Given the description of an element on the screen output the (x, y) to click on. 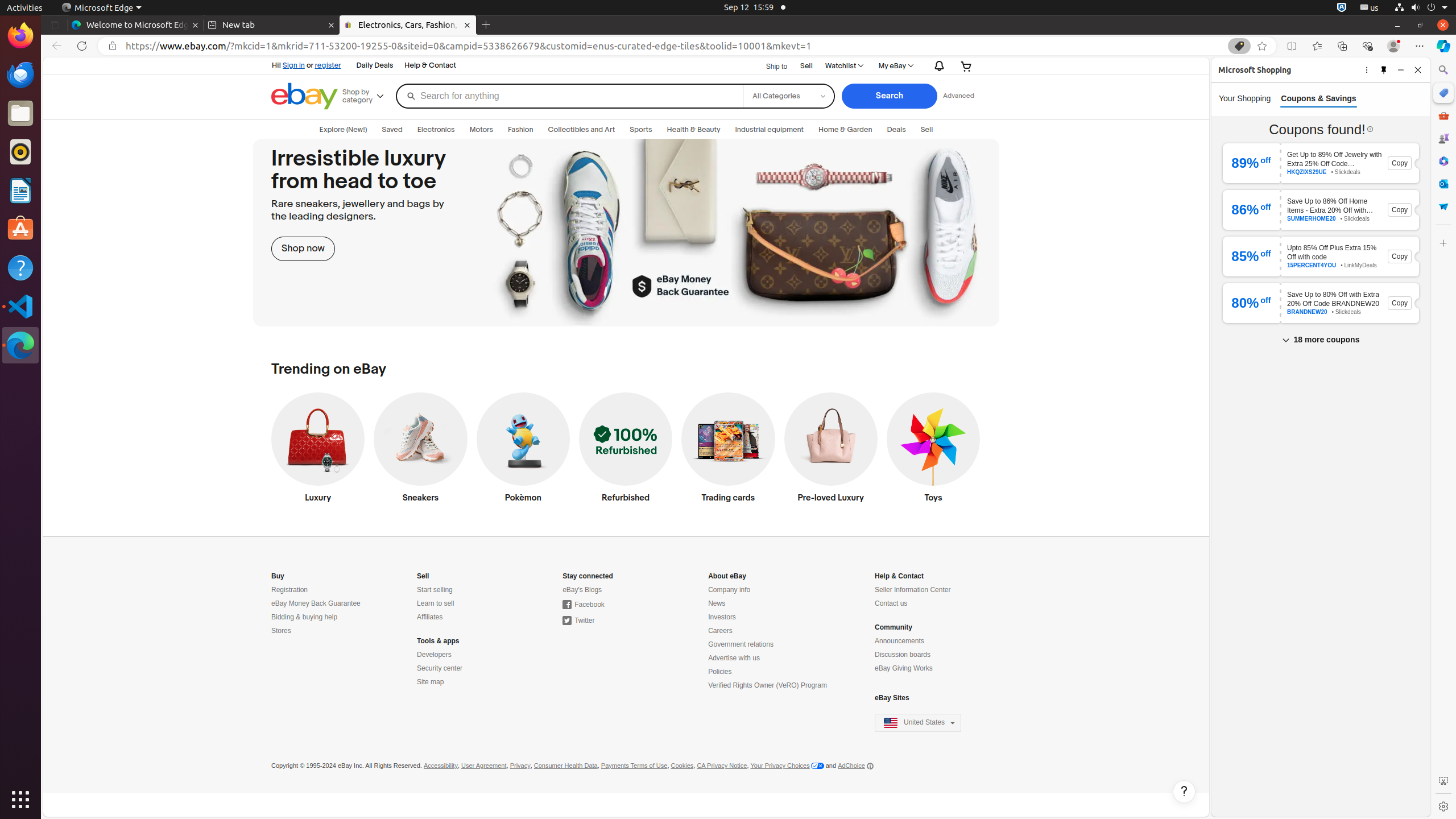
Explore (New!) Element type: link (343, 129)
Irresistible luxury from head to toe Element type: link (626, 232)
News Element type: link (716, 603)
Deals Element type: link (896, 129)
85 % off Upto 85% Off Plus Extra 15% Off with code 15PERCENT4YOU • LinkMyDeals Copy Element type: push-button (1320, 255)
